Given the description of an element on the screen output the (x, y) to click on. 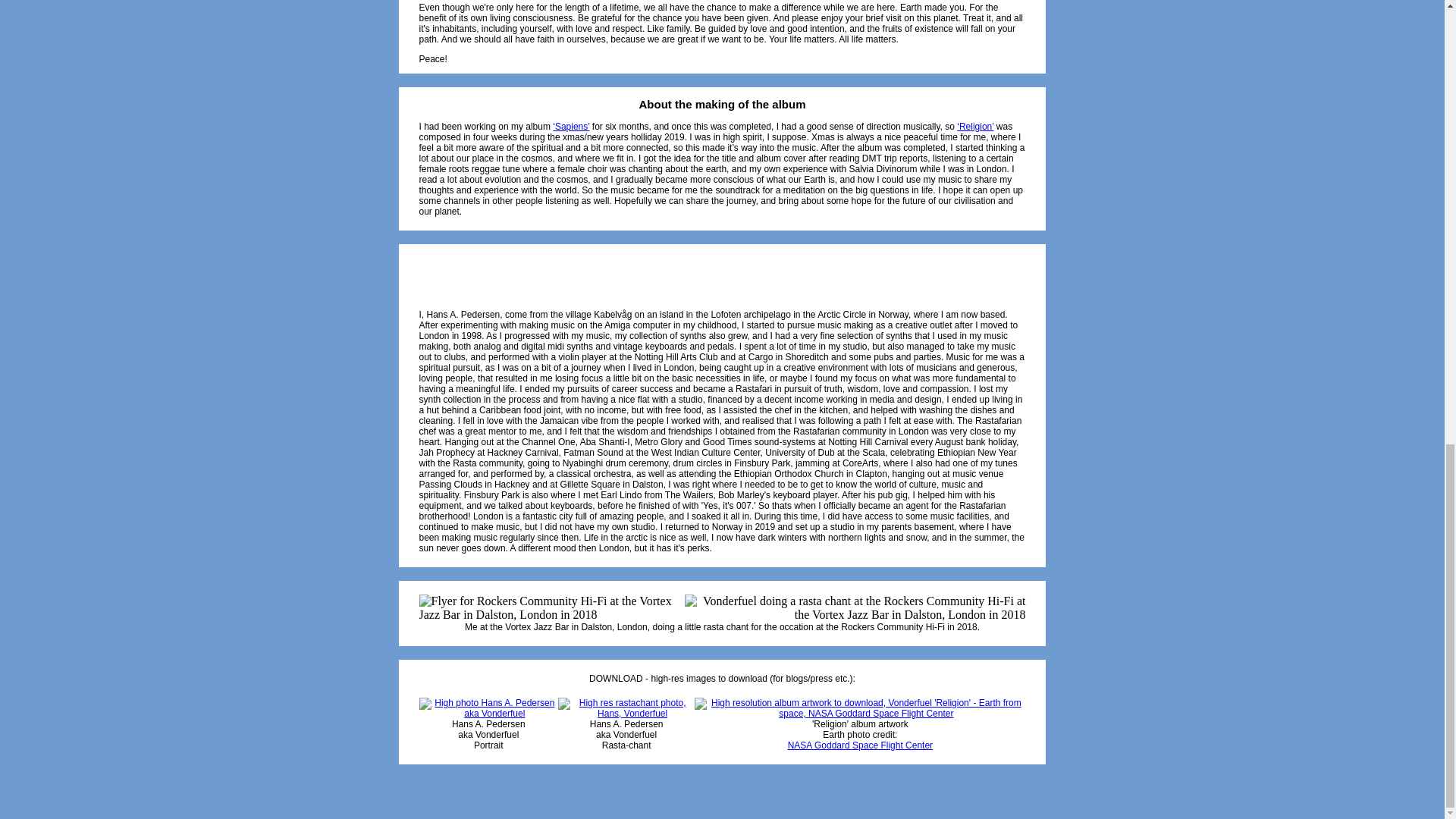
NASA Goddard Space Flight Center (860, 745)
